Given the description of an element on the screen output the (x, y) to click on. 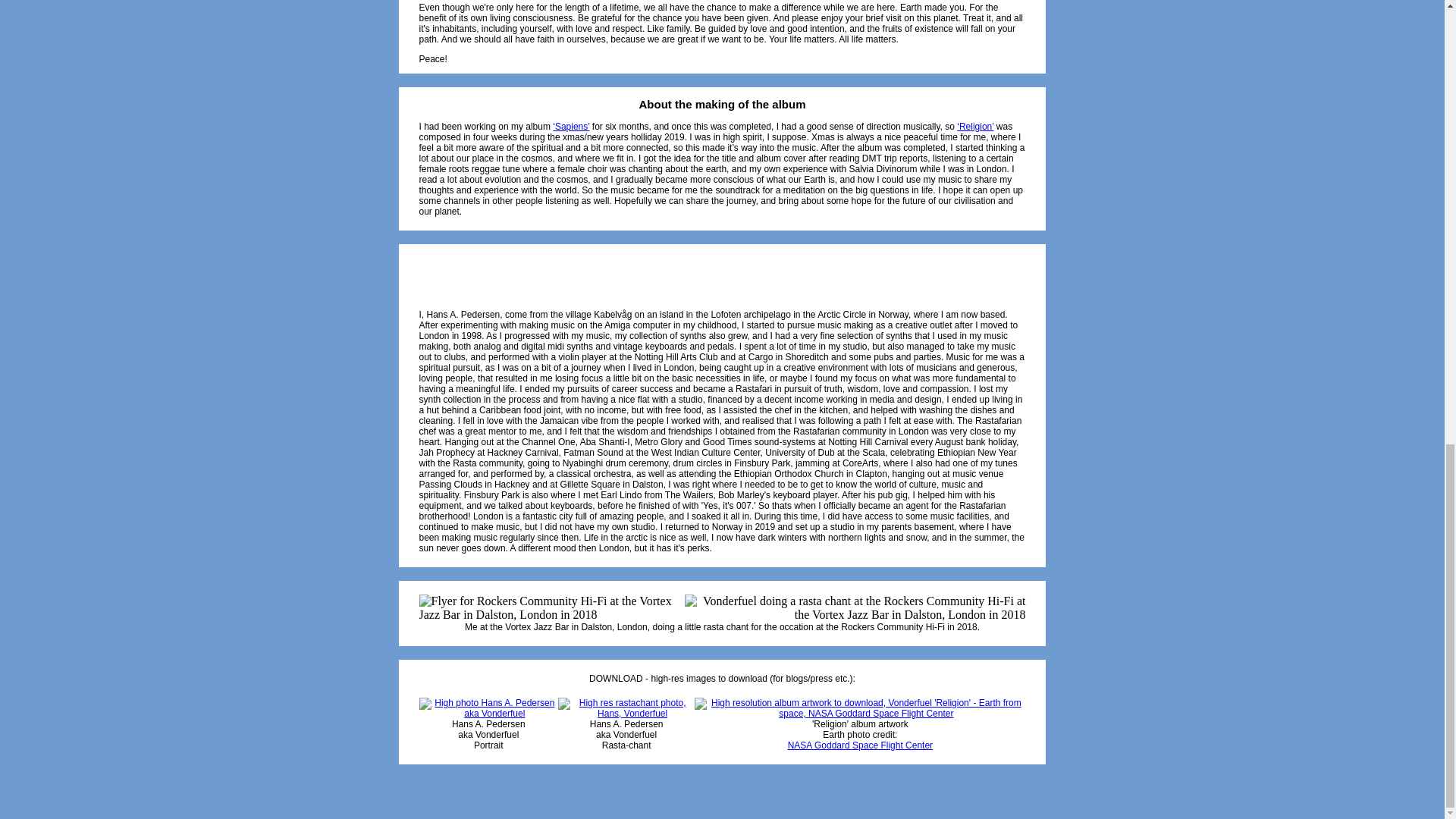
NASA Goddard Space Flight Center (860, 745)
